Given the description of an element on the screen output the (x, y) to click on. 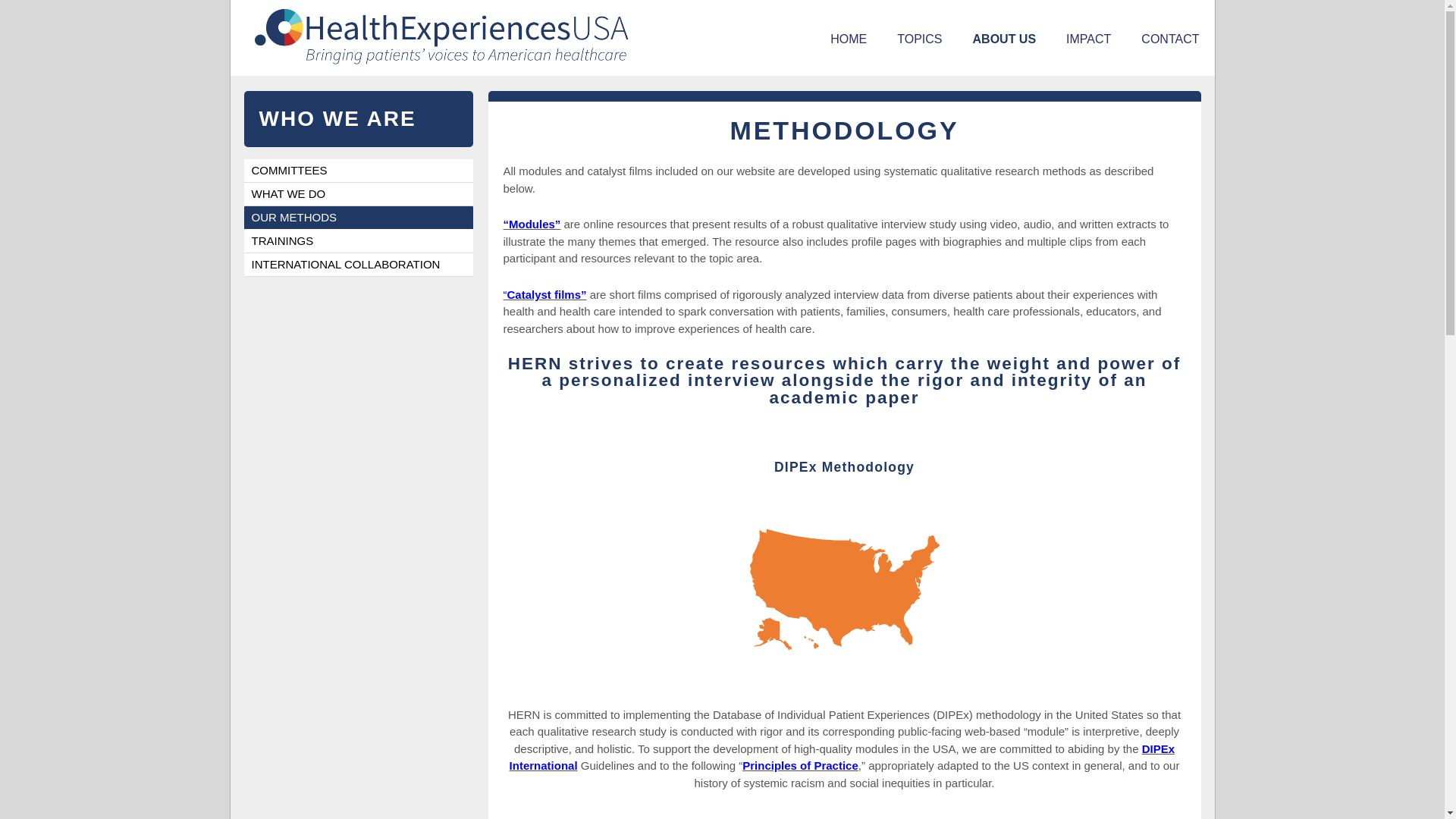
DIPEx International (841, 757)
ABOUT US (1004, 38)
TRAININGS (358, 241)
HOME (848, 38)
INTERNATIONAL COLLABORATION (358, 264)
WHAT WE DO (358, 194)
COMMITTEES (358, 170)
OUR METHODS (358, 218)
Principles of Practice (800, 765)
IMPACT (1088, 38)
